Given the description of an element on the screen output the (x, y) to click on. 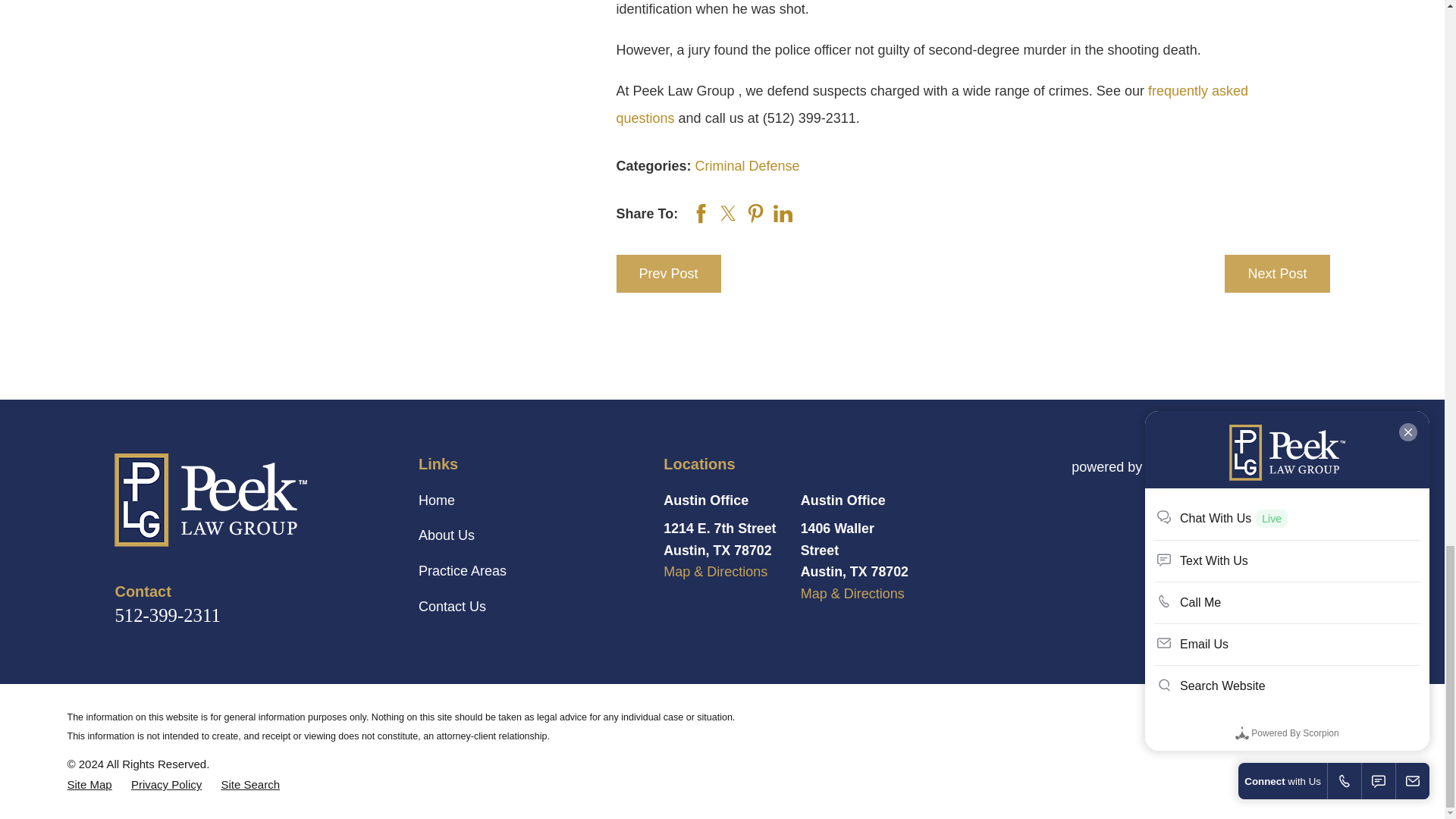
Peek Law Group (211, 500)
Home (249, 500)
